Given the description of an element on the screen output the (x, y) to click on. 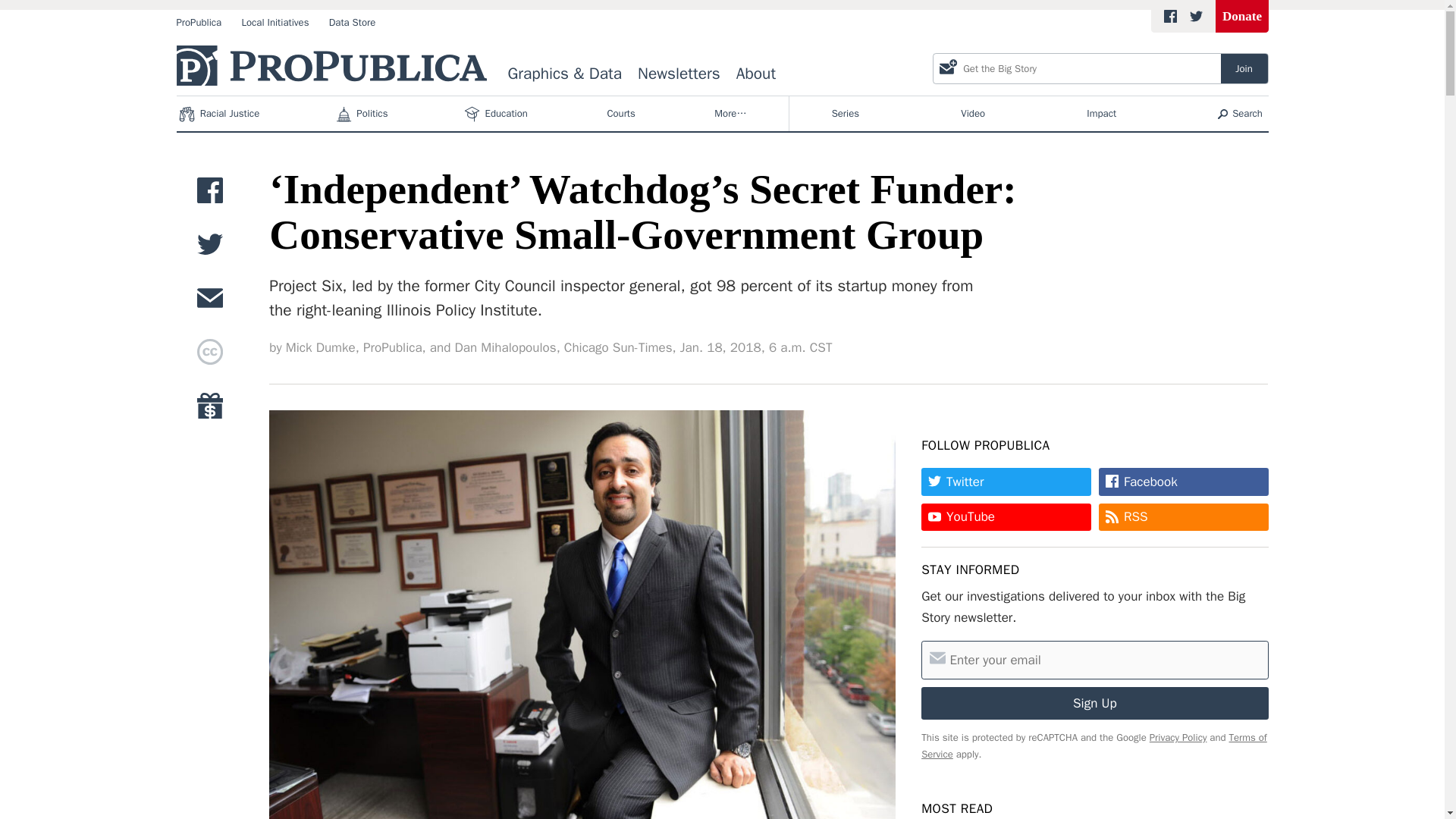
Video (973, 113)
Share this story on Facebook (209, 193)
Rich Site Summary (1136, 516)
Data Store (352, 22)
Donate to ProPublica (209, 409)
Newsletters (679, 74)
Series (844, 113)
Politics (363, 113)
Mick Dumke (320, 347)
Courts (621, 113)
Join (1244, 68)
Share this story on Twitter (209, 247)
ProPublica (198, 22)
This story is not subject to our Creative Commons License (209, 355)
About (755, 74)
